Given the description of an element on the screen output the (x, y) to click on. 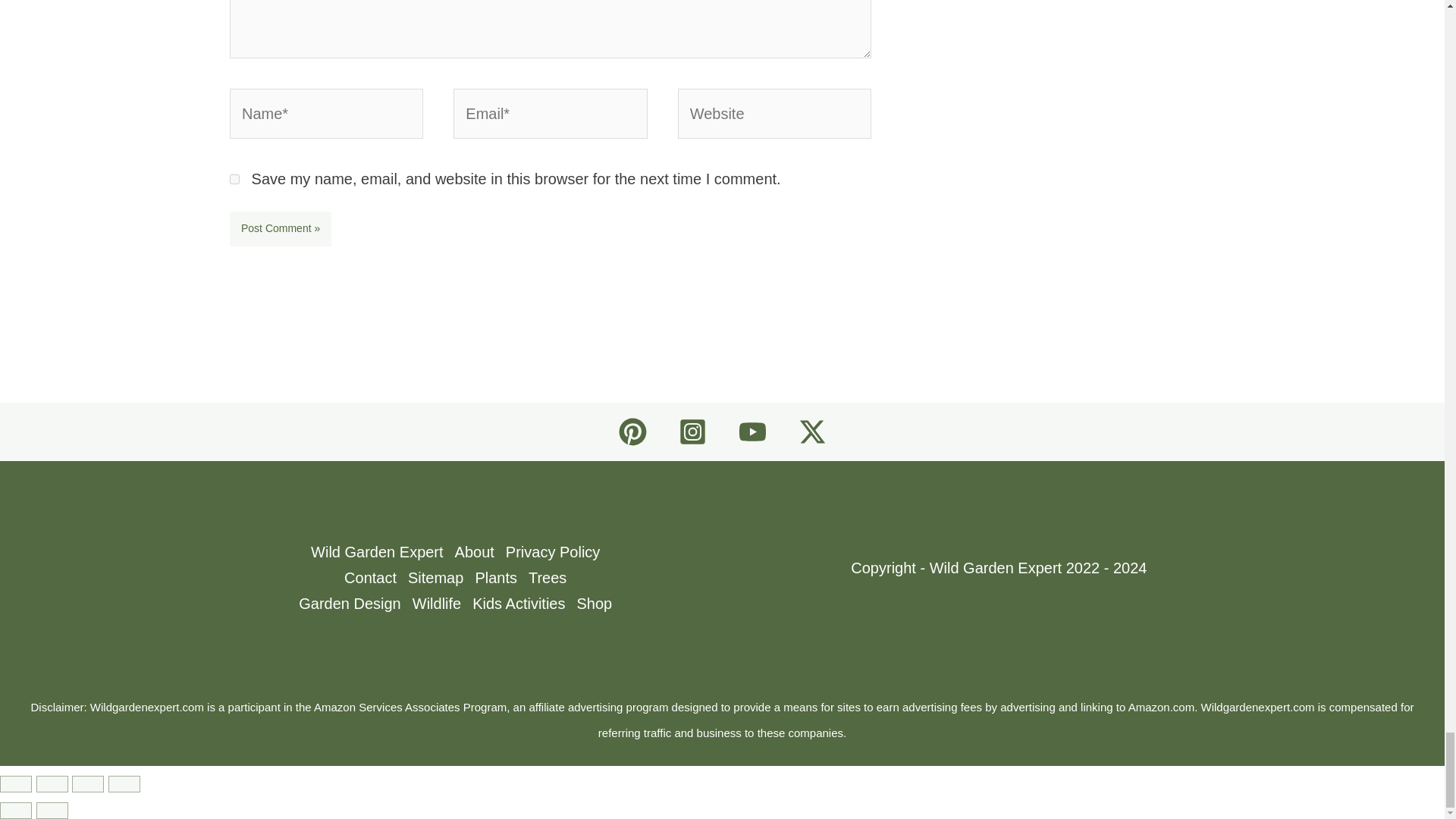
yes (235, 179)
